Given the description of an element on the screen output the (x, y) to click on. 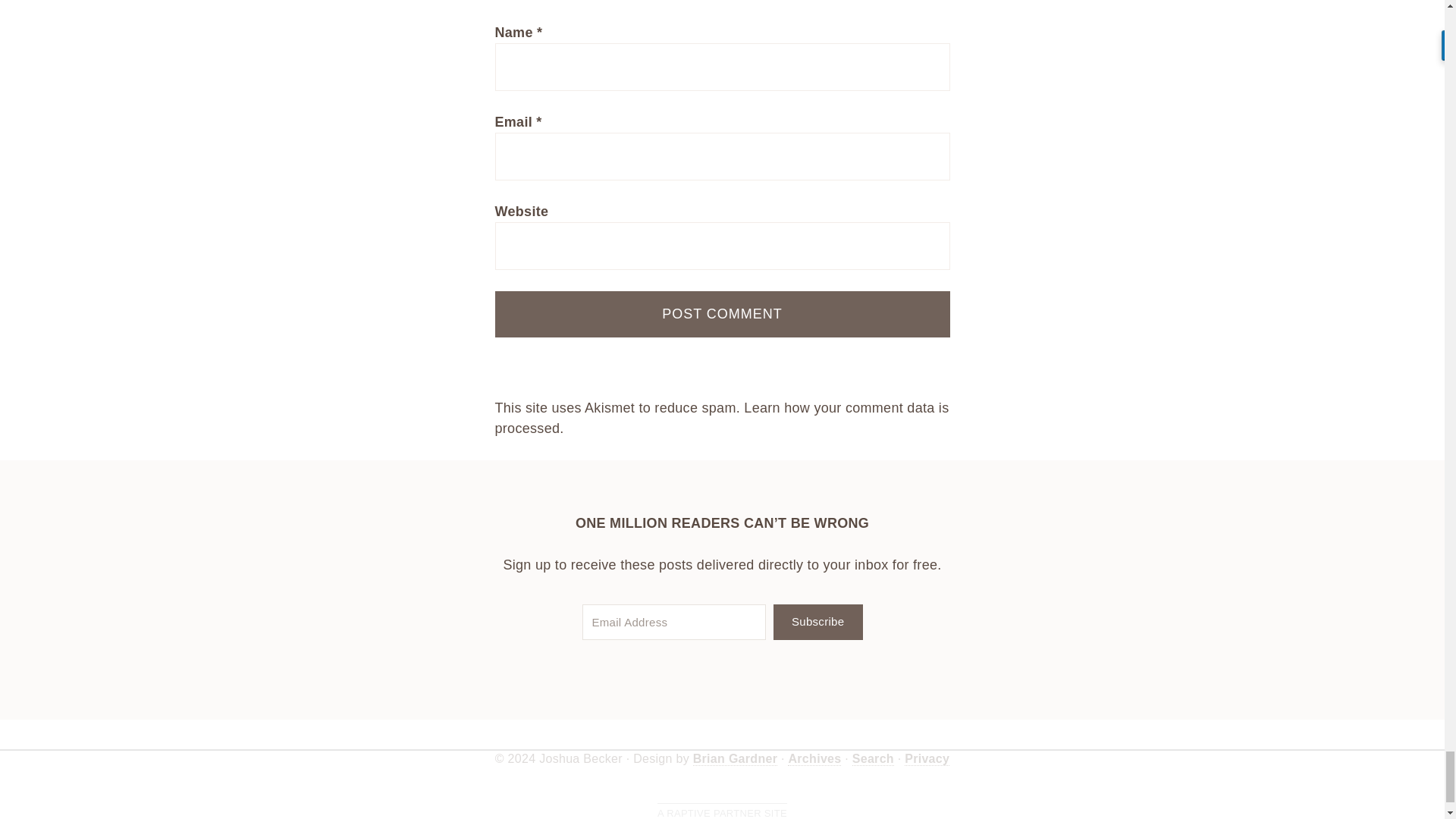
Post Comment (722, 314)
